Given the description of an element on the screen output the (x, y) to click on. 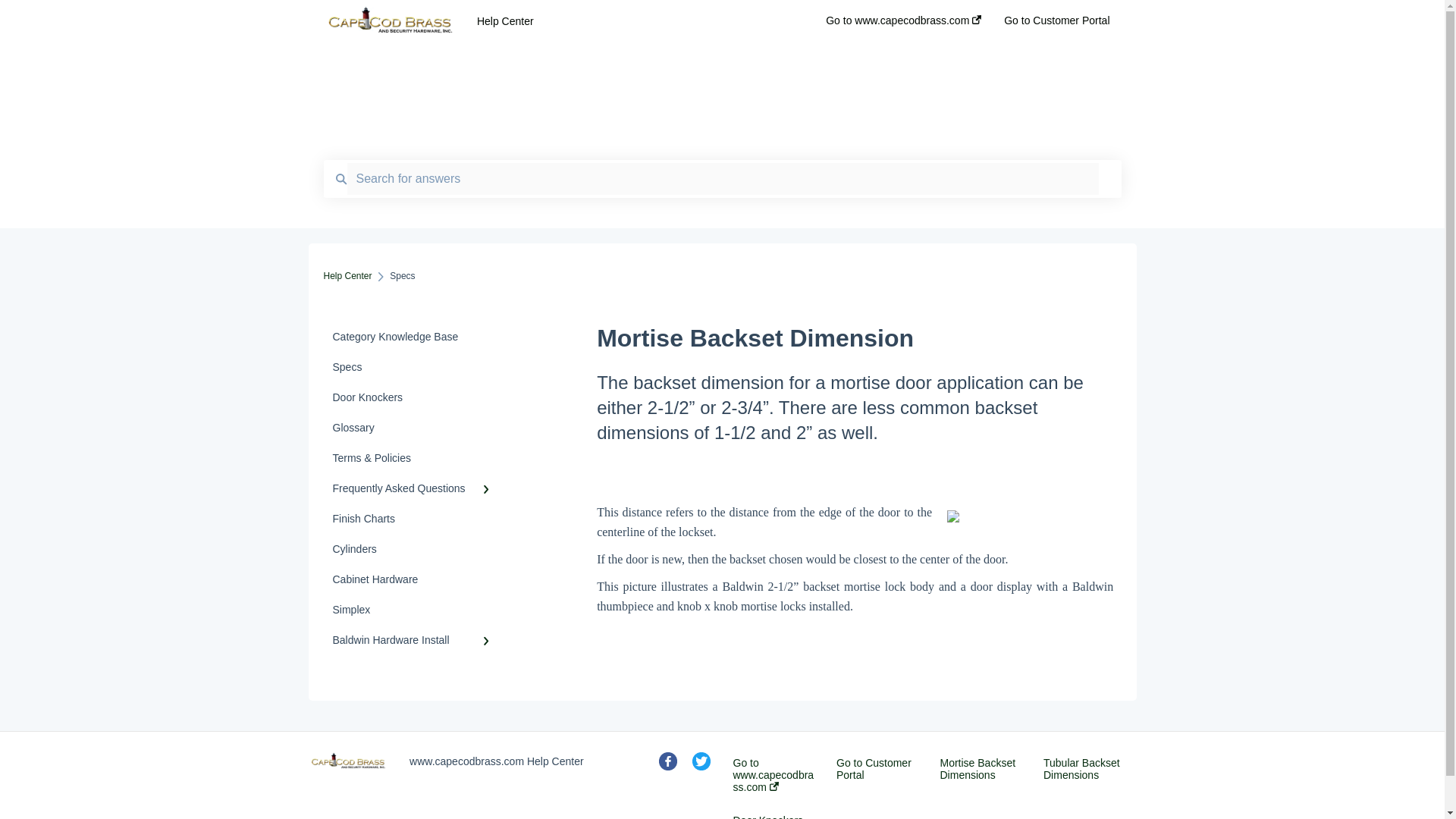
Category Knowledge Base (414, 336)
Frequently Asked Questions (414, 488)
Tubular Backset Dimensions (1084, 768)
Finish Charts (414, 518)
Glossary (414, 427)
Go to Customer Portal (876, 768)
Help Center (347, 276)
Specs (414, 367)
Baldwin Hardware Install (414, 639)
Door Knockers (414, 397)
Cabinet Hardware (414, 579)
Simplex (414, 609)
Door Knockers (767, 816)
Go to www.capecodbrass.com (773, 774)
Mortise Backset Dimensions (981, 768)
